Given the description of an element on the screen output the (x, y) to click on. 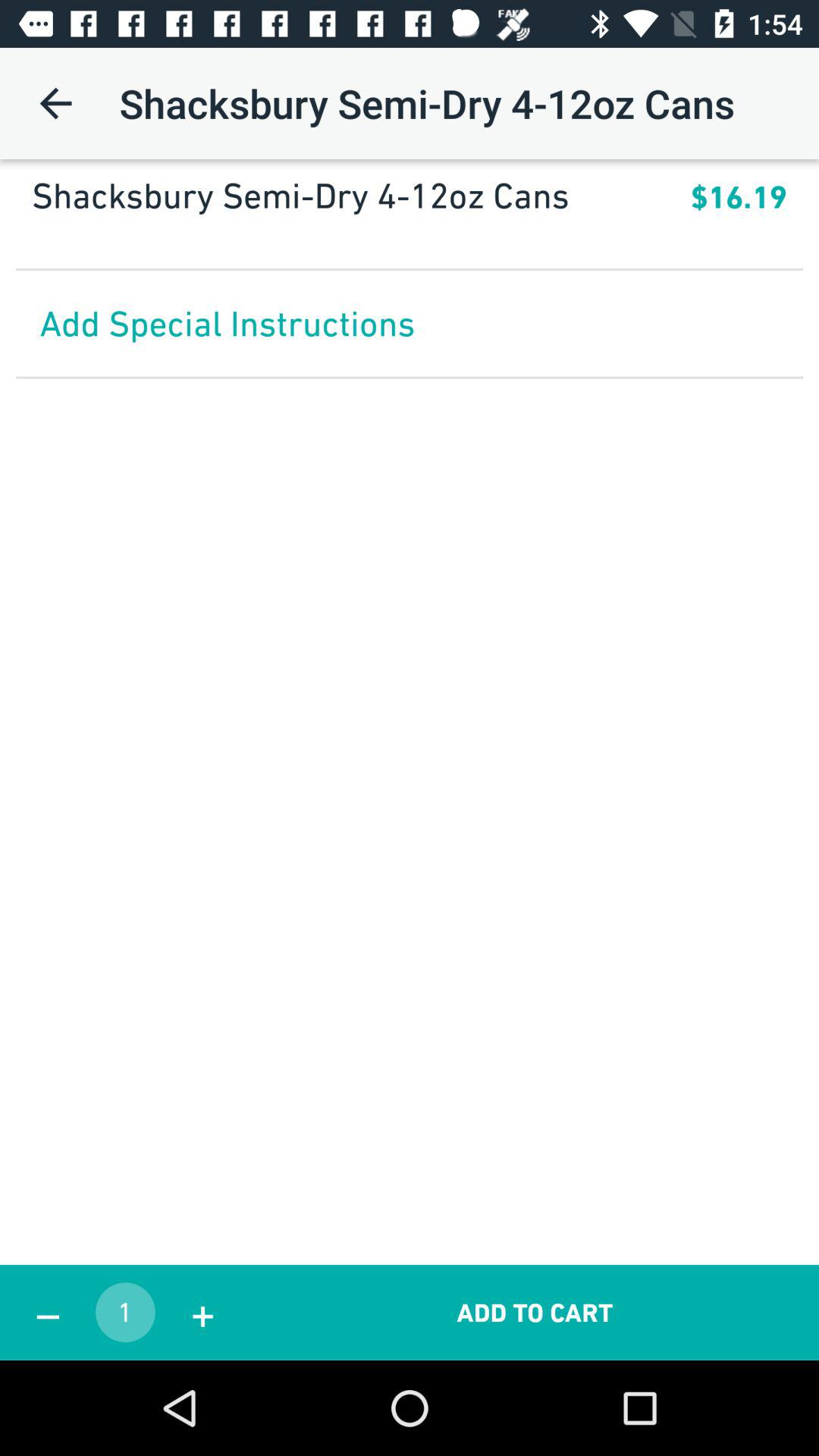
tap the add special instructions icon (409, 323)
